Given the description of an element on the screen output the (x, y) to click on. 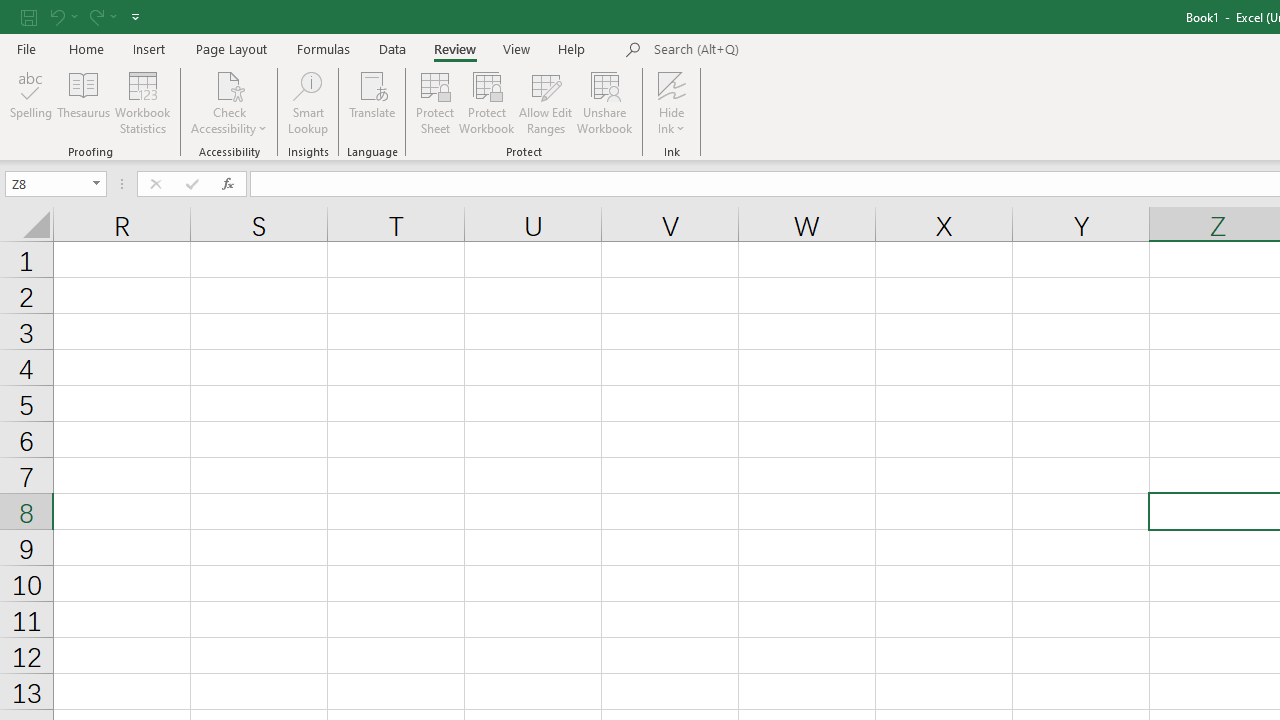
Unshare Workbook (604, 102)
Smart Lookup (308, 102)
Translate (372, 102)
Thesaurus... (83, 102)
Workbook Statistics (142, 102)
Allow Edit Ranges (545, 102)
